Given the description of an element on the screen output the (x, y) to click on. 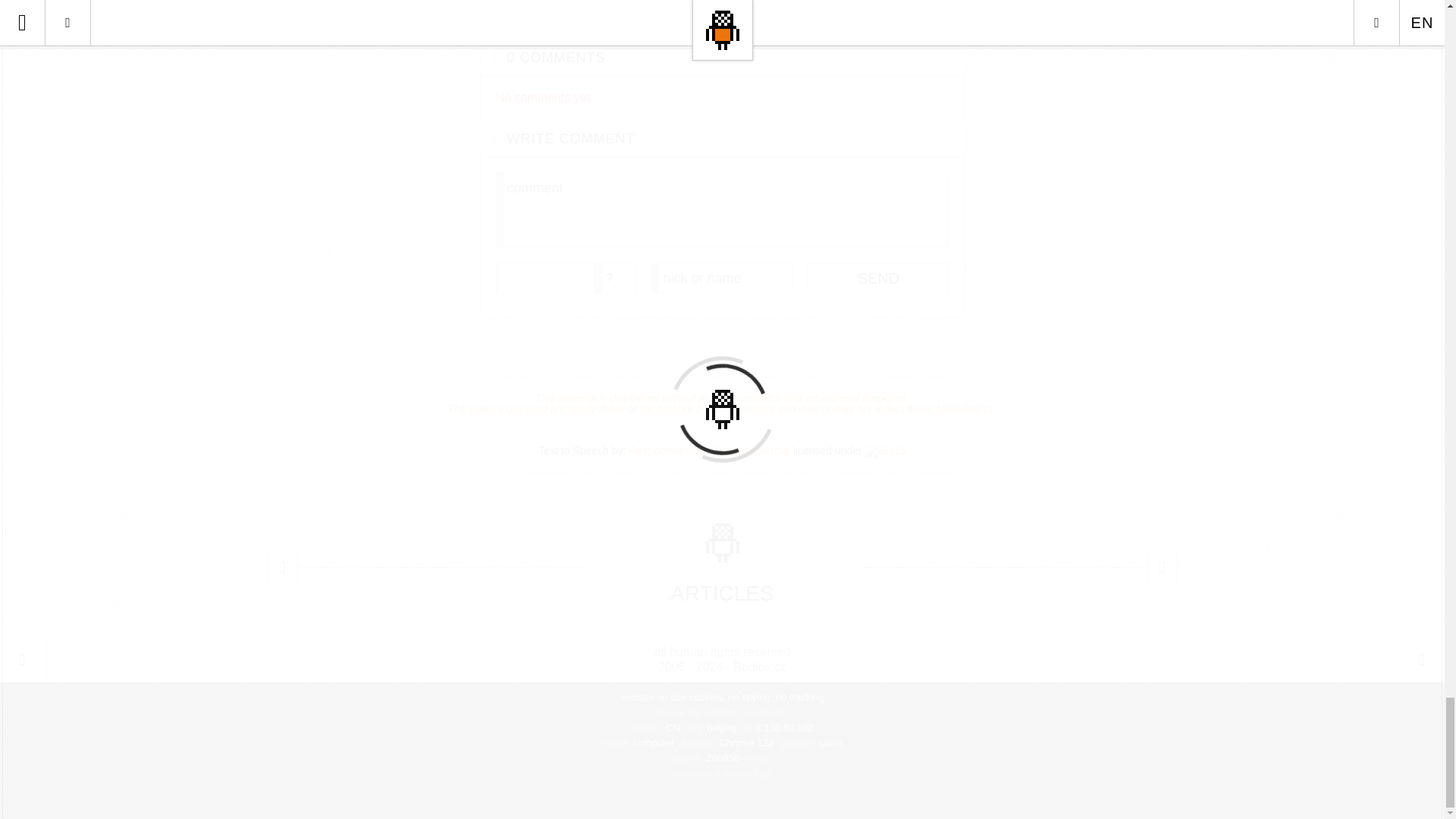
The world order already changed in 2022 (281, 567)
? (615, 277)
nick or name (721, 277)
The Next One: Autumn 2024 (1161, 567)
send (878, 277)
back (22, 659)
ResponsiveVoice Text To Speech (884, 451)
